Given the description of an element on the screen output the (x, y) to click on. 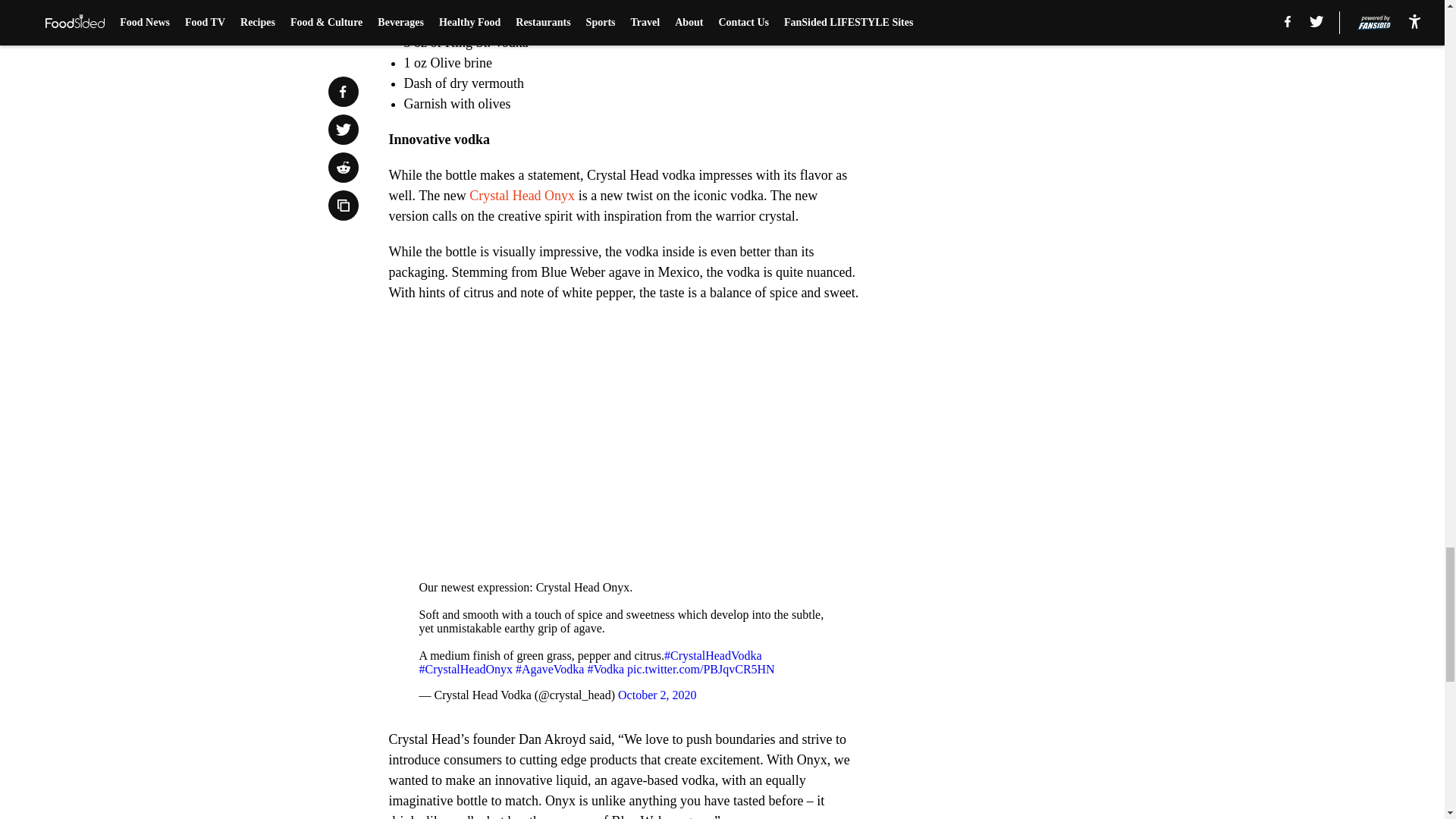
Crystal Head Onyx (521, 195)
